Given the description of an element on the screen output the (x, y) to click on. 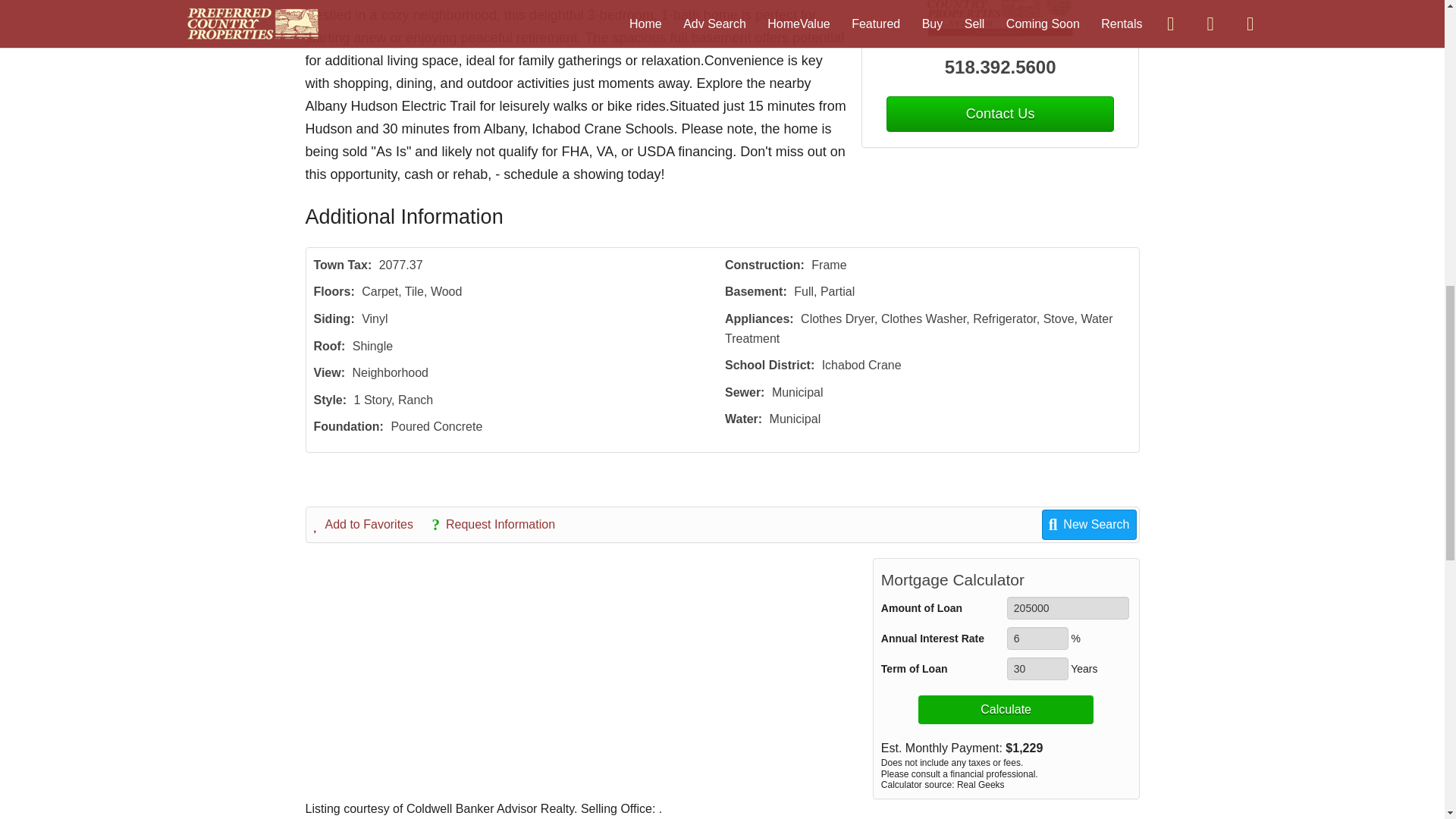
518.392.5600 (1000, 67)
30 (1037, 668)
6 (1037, 638)
205000 (1068, 608)
Contact Us (999, 113)
